Given the description of an element on the screen output the (x, y) to click on. 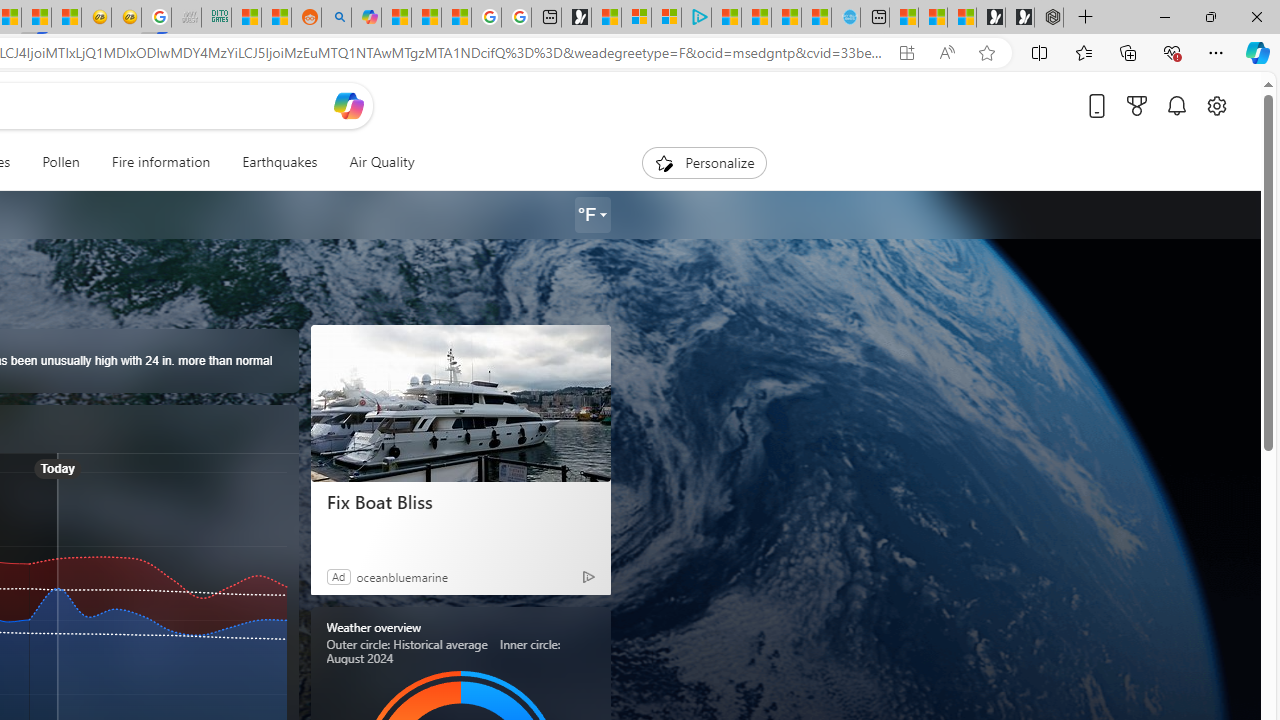
Pollen (60, 162)
Fix Boat Bliss (459, 402)
